Given the description of an element on the screen output the (x, y) to click on. 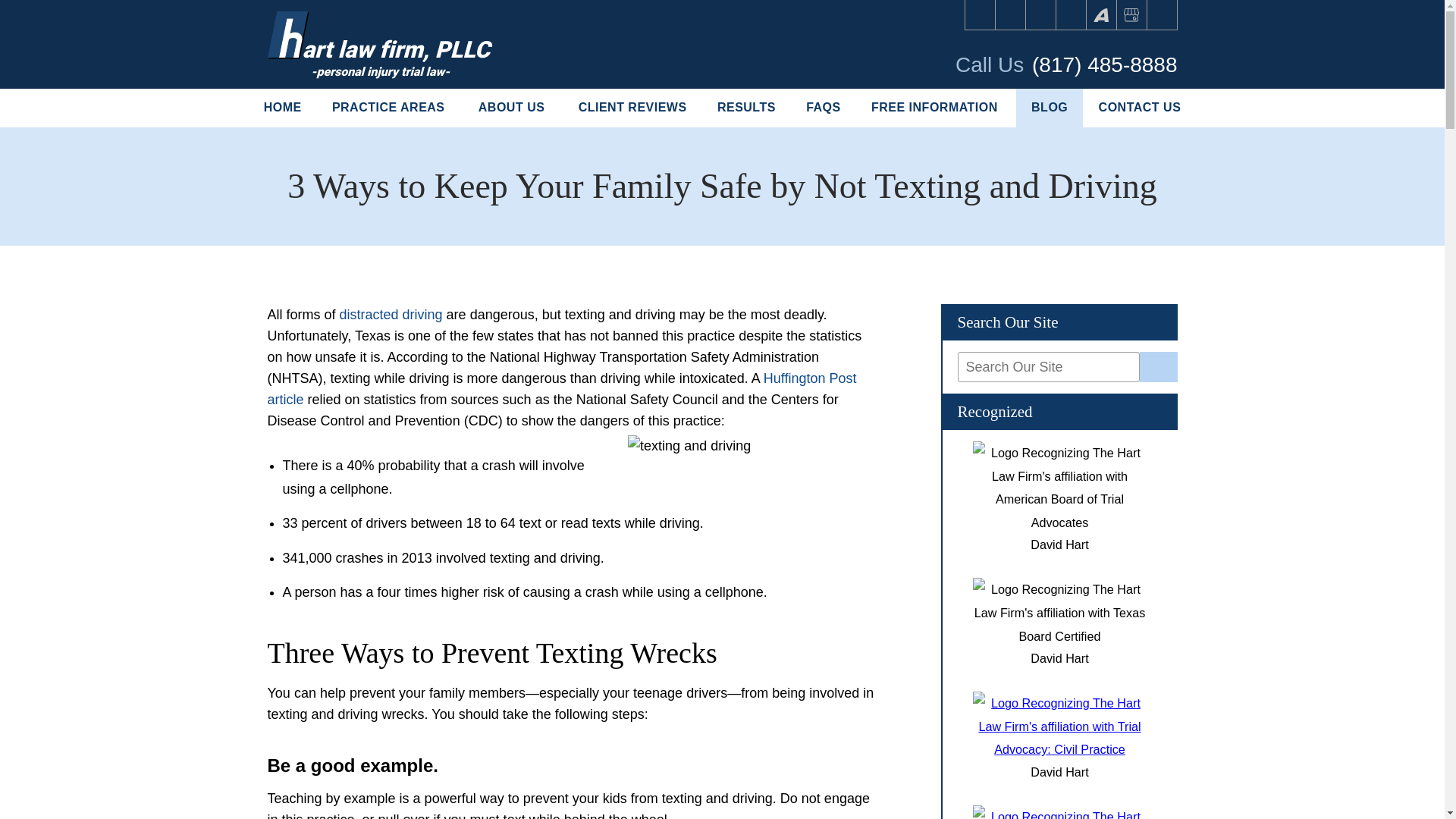
RESULTS (745, 107)
Search (1158, 367)
Search (1161, 15)
FREE INFORMATION (936, 107)
National Association of Trial Advocacy Web Site (1059, 748)
ABOUT US (513, 107)
CLIENT REVIEWS (631, 107)
BLOG (1049, 107)
PRACTICE AREAS (390, 107)
FAQS (823, 107)
HOME (282, 107)
